Given the description of an element on the screen output the (x, y) to click on. 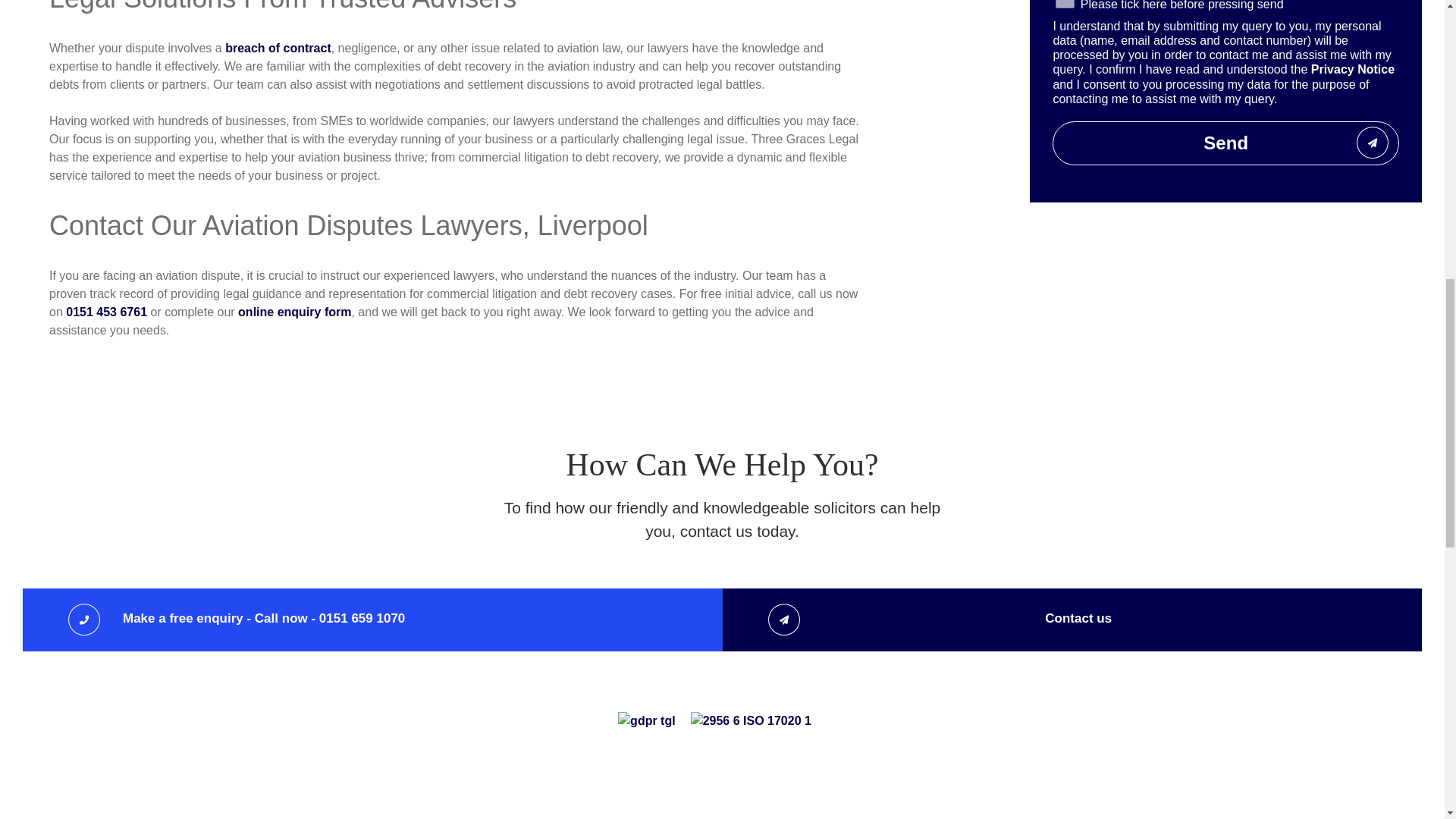
Send (1225, 143)
 Please tick here before pressing send (1064, 4)
